Given the description of an element on the screen output the (x, y) to click on. 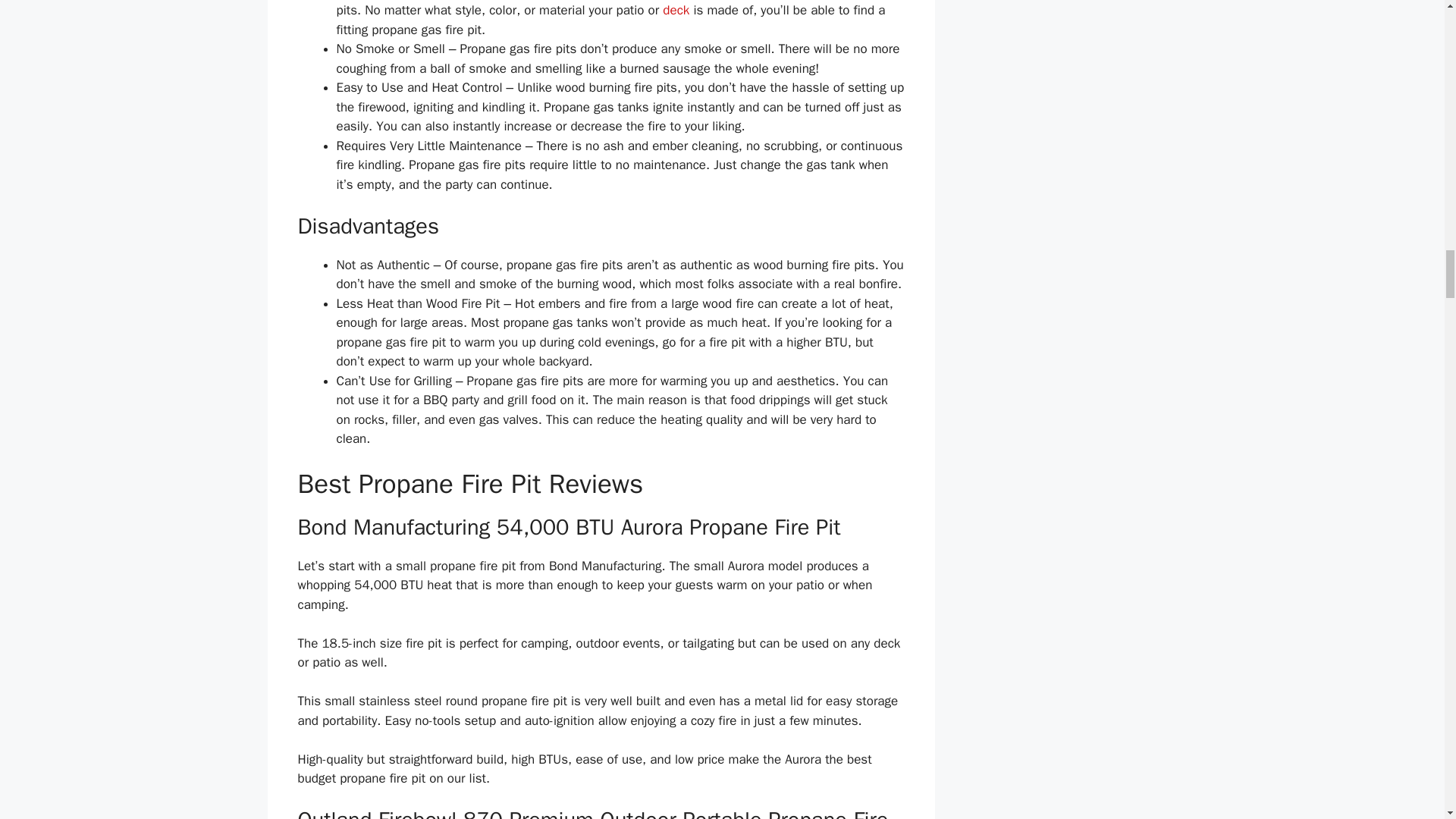
deck (675, 10)
